Given the description of an element on the screen output the (x, y) to click on. 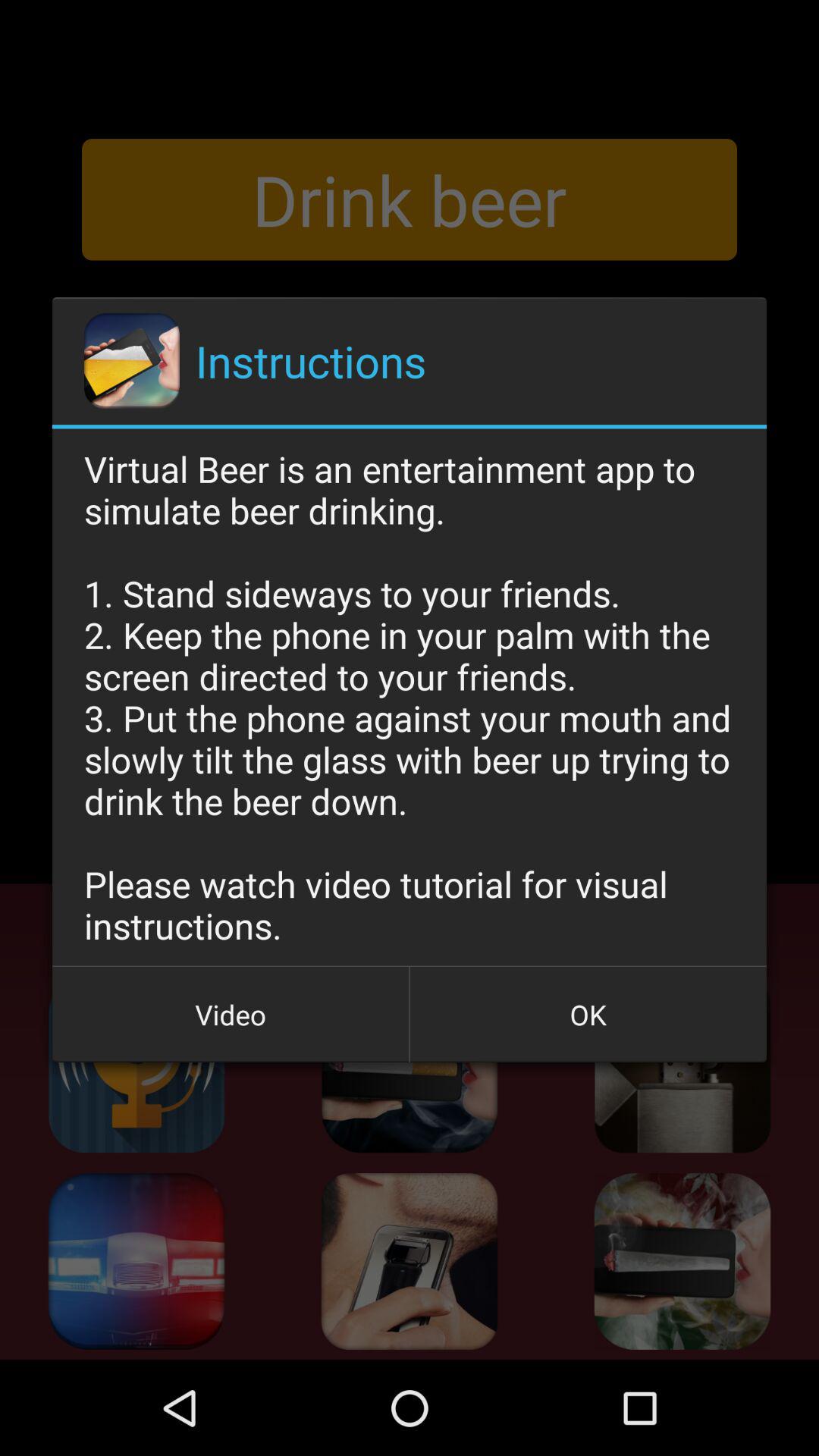
turn off the icon to the right of video button (588, 1014)
